Given the description of an element on the screen output the (x, y) to click on. 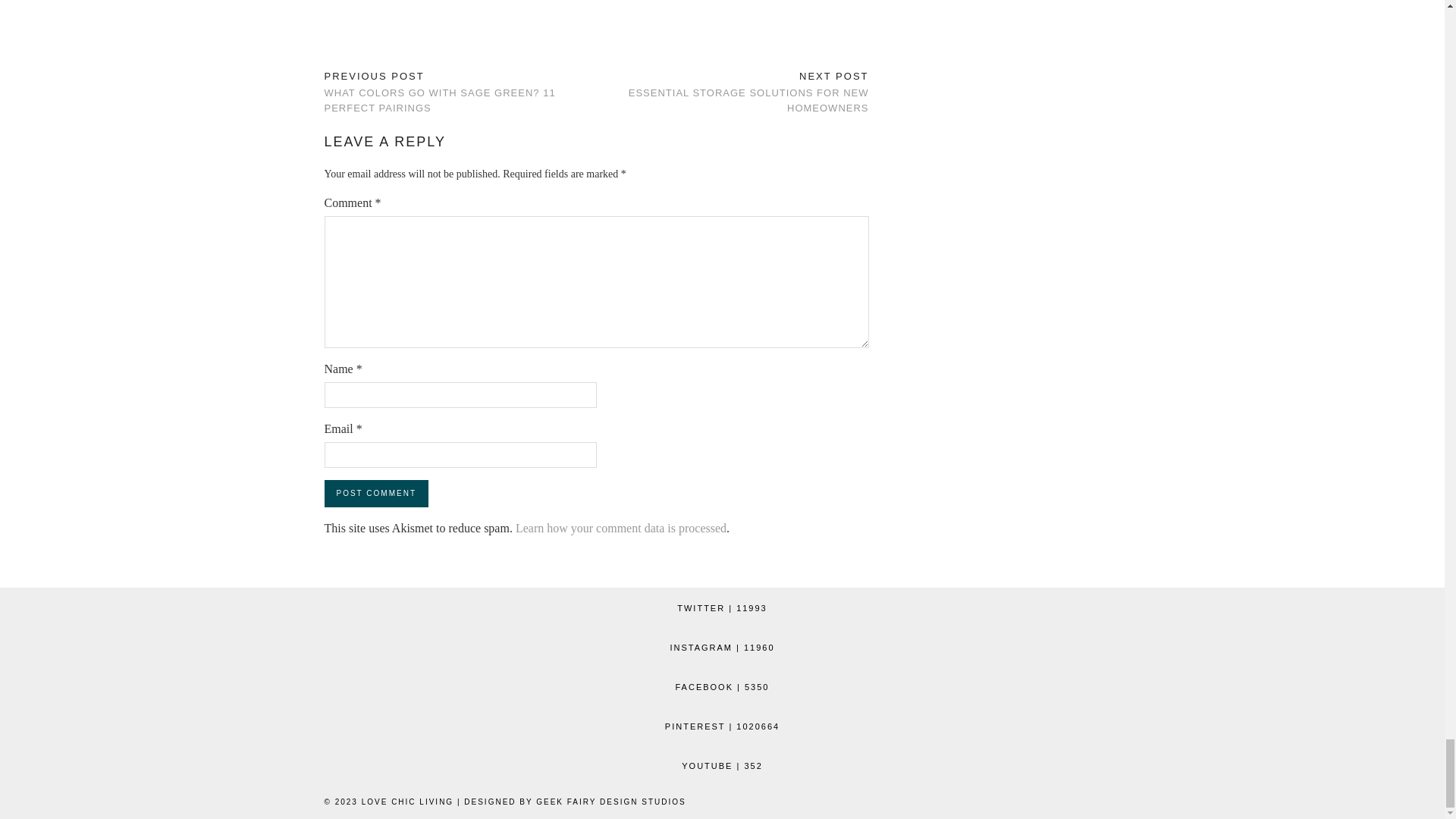
Post Comment (376, 492)
